Given the description of an element on the screen output the (x, y) to click on. 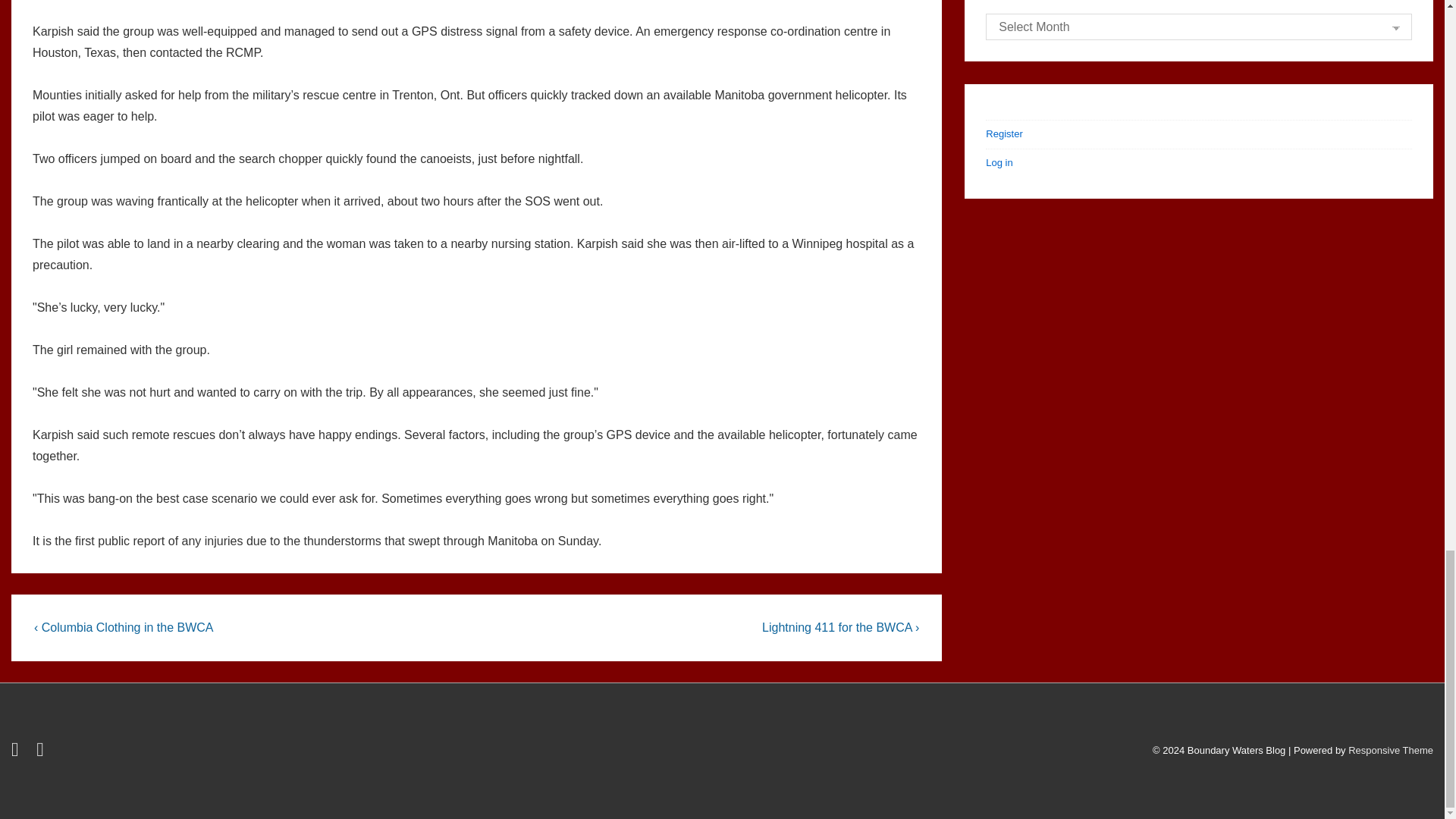
twitter (17, 752)
facebook (42, 752)
